Given the description of an element on the screen output the (x, y) to click on. 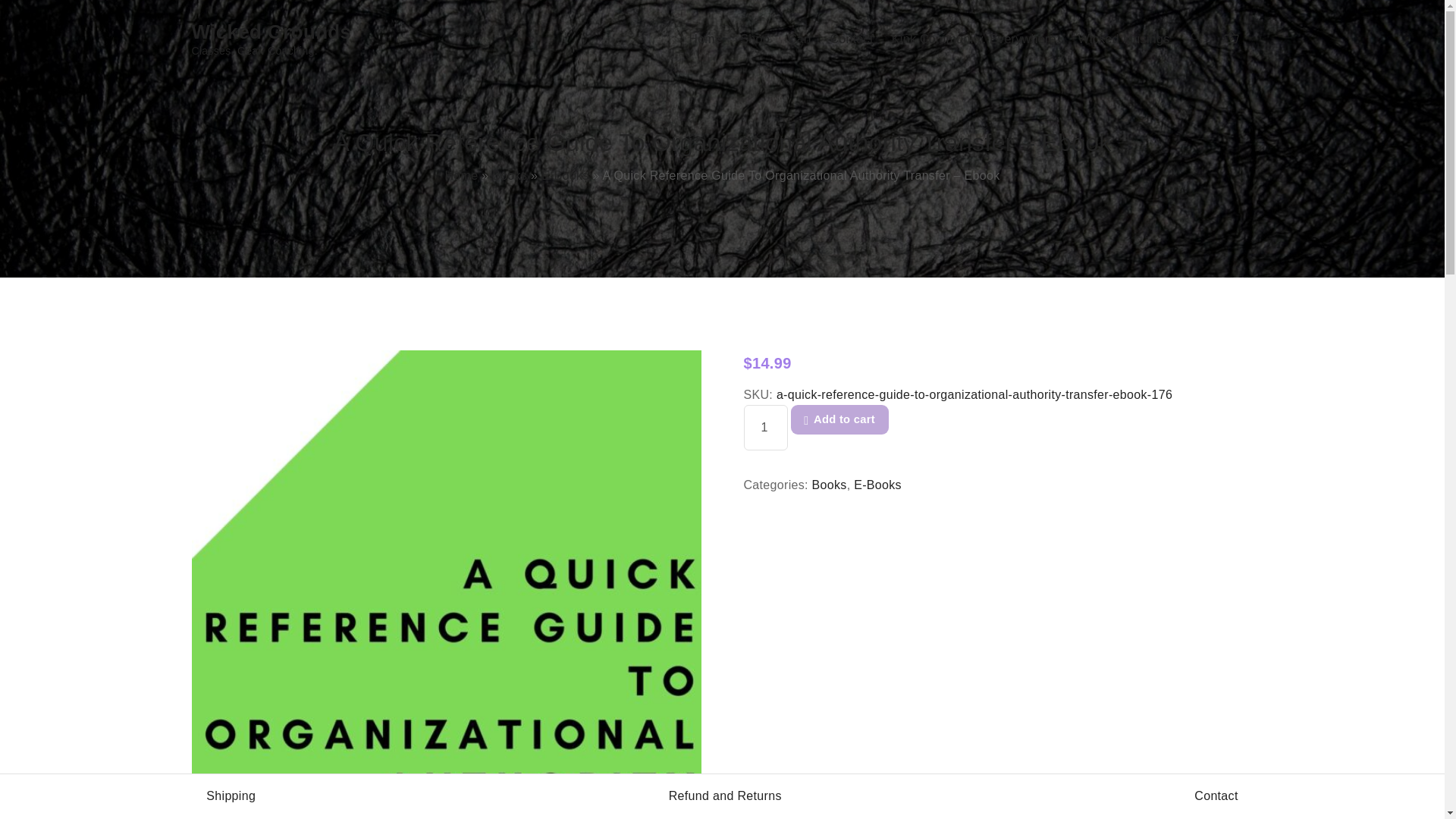
Home (460, 174)
Home (705, 39)
Shipping (231, 795)
E-Books (565, 174)
Shop (754, 39)
Wicked Musings (1124, 39)
Kink Community. Everywhere. (975, 39)
E-Books (877, 484)
Contact (850, 39)
Books (829, 484)
Cart (276, 38)
Add to cart (799, 39)
Refund and Returns (839, 419)
